Given the description of an element on the screen output the (x, y) to click on. 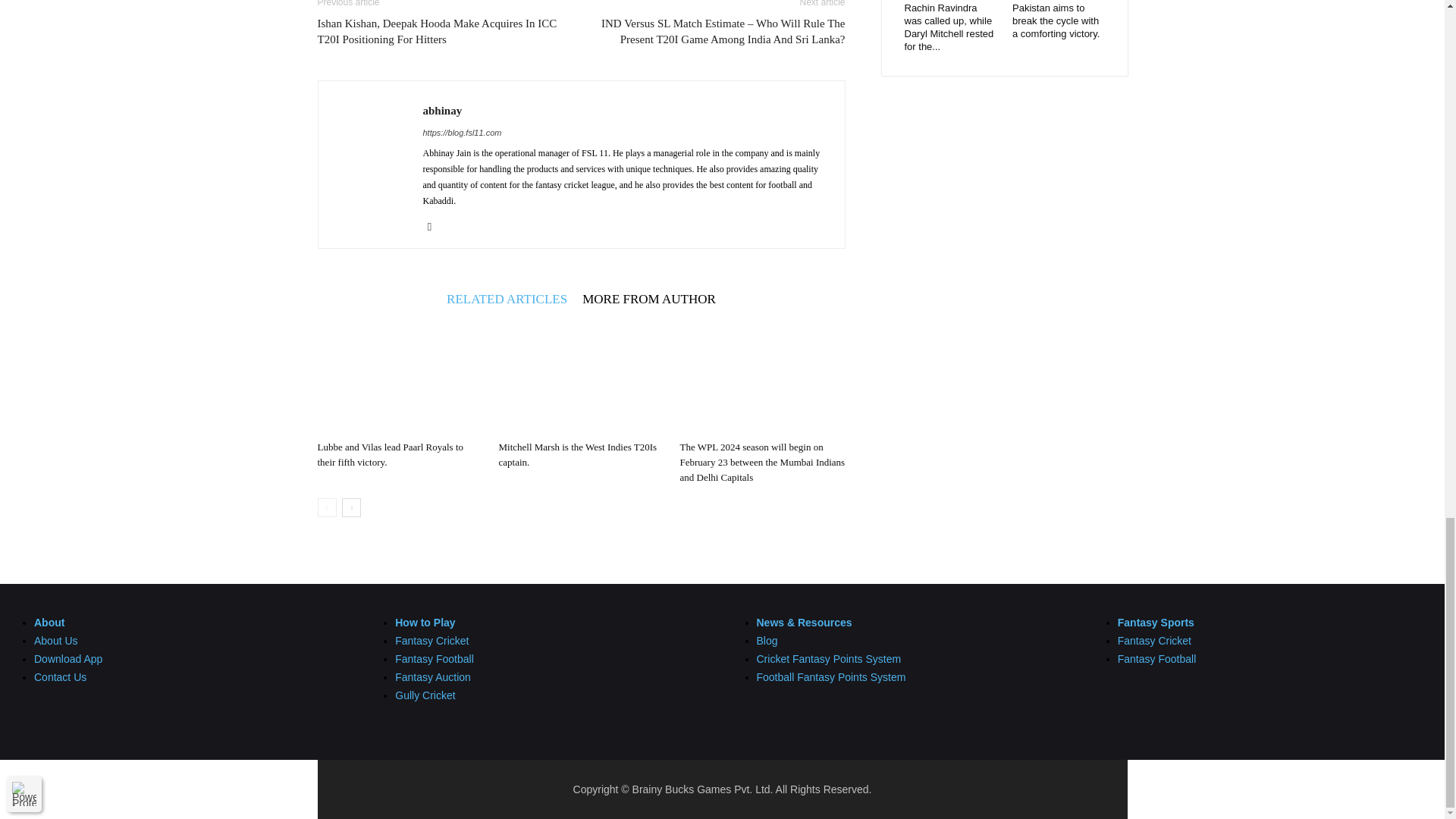
Youtube (435, 226)
Lubbe and Vilas lead Paarl Royals to their fifth victory. (399, 377)
